Given the description of an element on the screen output the (x, y) to click on. 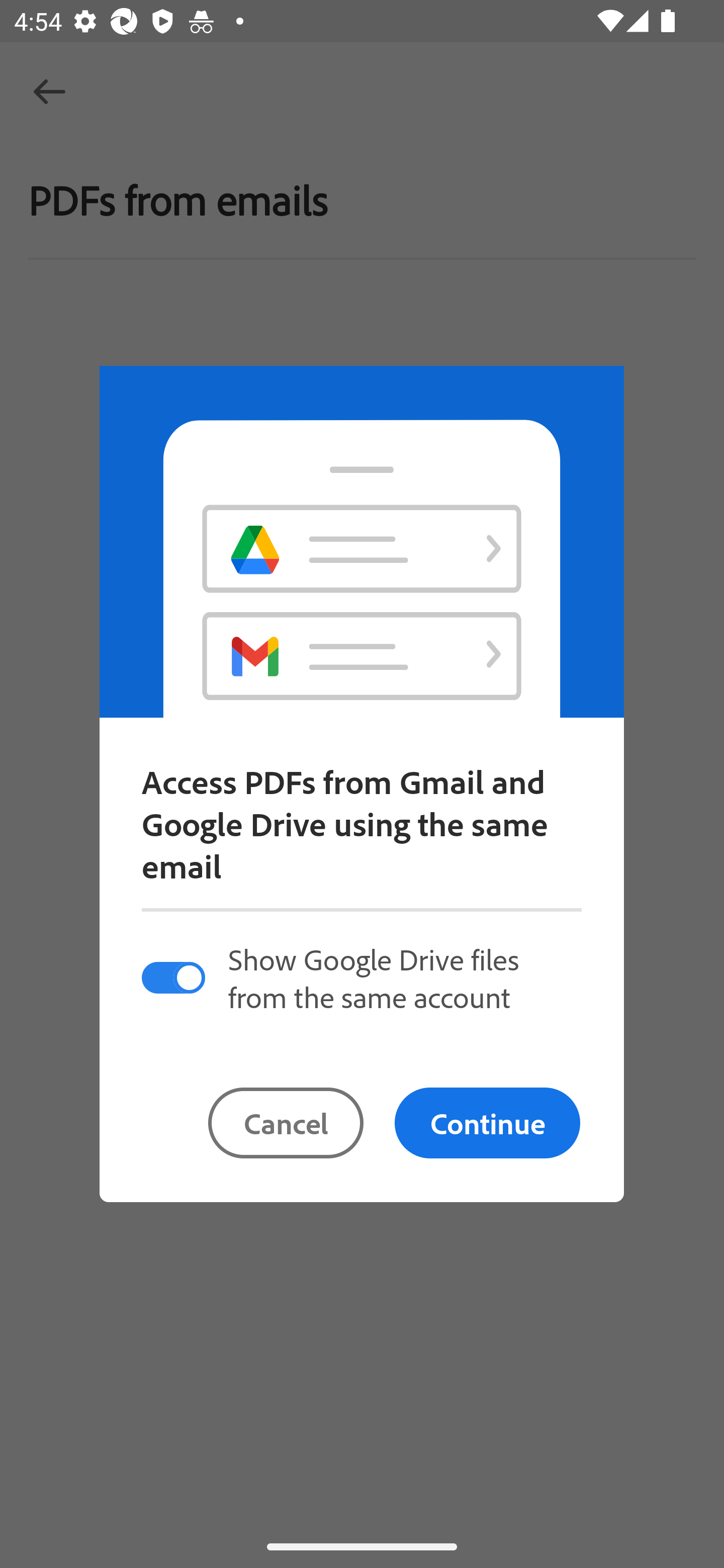
Show Google Drive files from the same account (361, 977)
Cancel (285, 1123)
Continue (487, 1123)
